Given the description of an element on the screen output the (x, y) to click on. 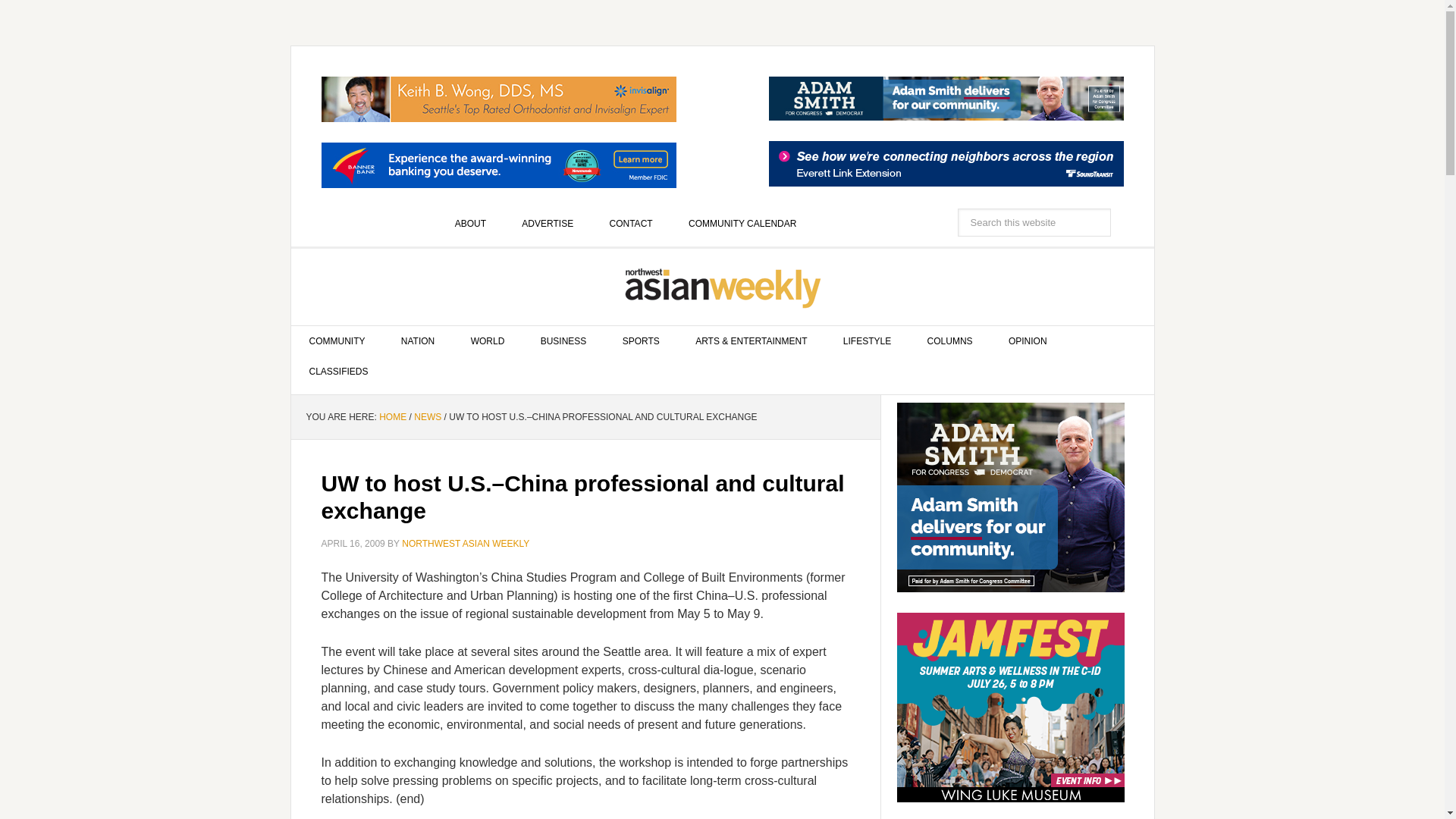
OPINION (1027, 340)
COMMUNITY CALENDAR (741, 223)
CONTACT (631, 223)
BUSINESS (563, 340)
ABOUT (469, 223)
WORLD (487, 340)
COLUMNS (949, 340)
SPORTS (641, 340)
LIFESTYLE (866, 340)
NATION (417, 340)
COMMUNITY (337, 340)
CLASSIFIEDS (339, 371)
ADVERTISE (547, 223)
NORTHWEST ASIAN WEEKLY (722, 286)
